Given the description of an element on the screen output the (x, y) to click on. 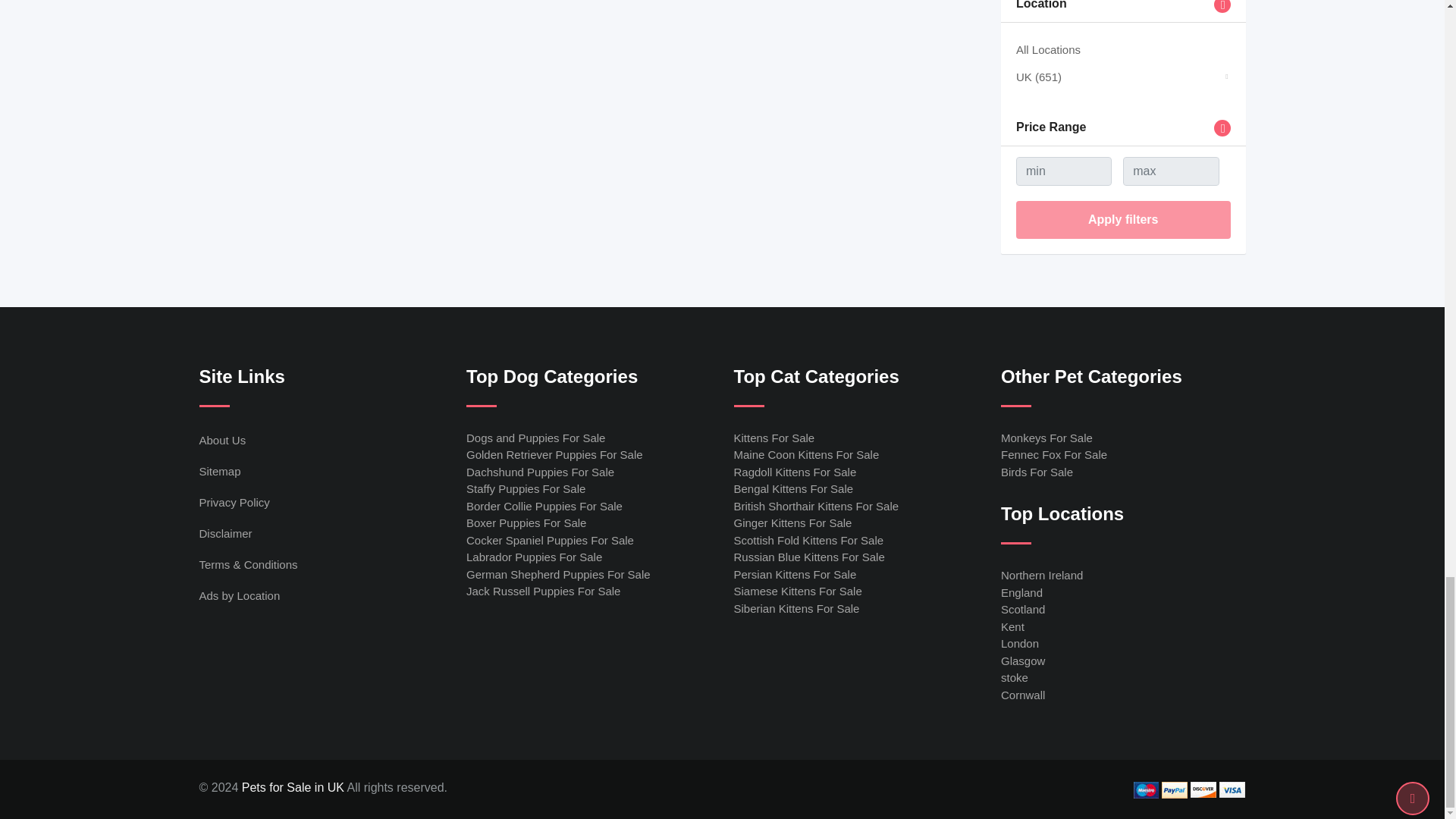
Dogs and Puppies For Sale (535, 437)
Staffy Puppies For Sale (525, 488)
Boxer Puppies For Sale (525, 522)
Border Collie Puppies For Sale (544, 505)
Cocker Spaniel Puppies For Sale (549, 540)
Dachshund Puppies For Sale (539, 472)
Golden Retriever Puppies For Sale (554, 454)
